Given the description of an element on the screen output the (x, y) to click on. 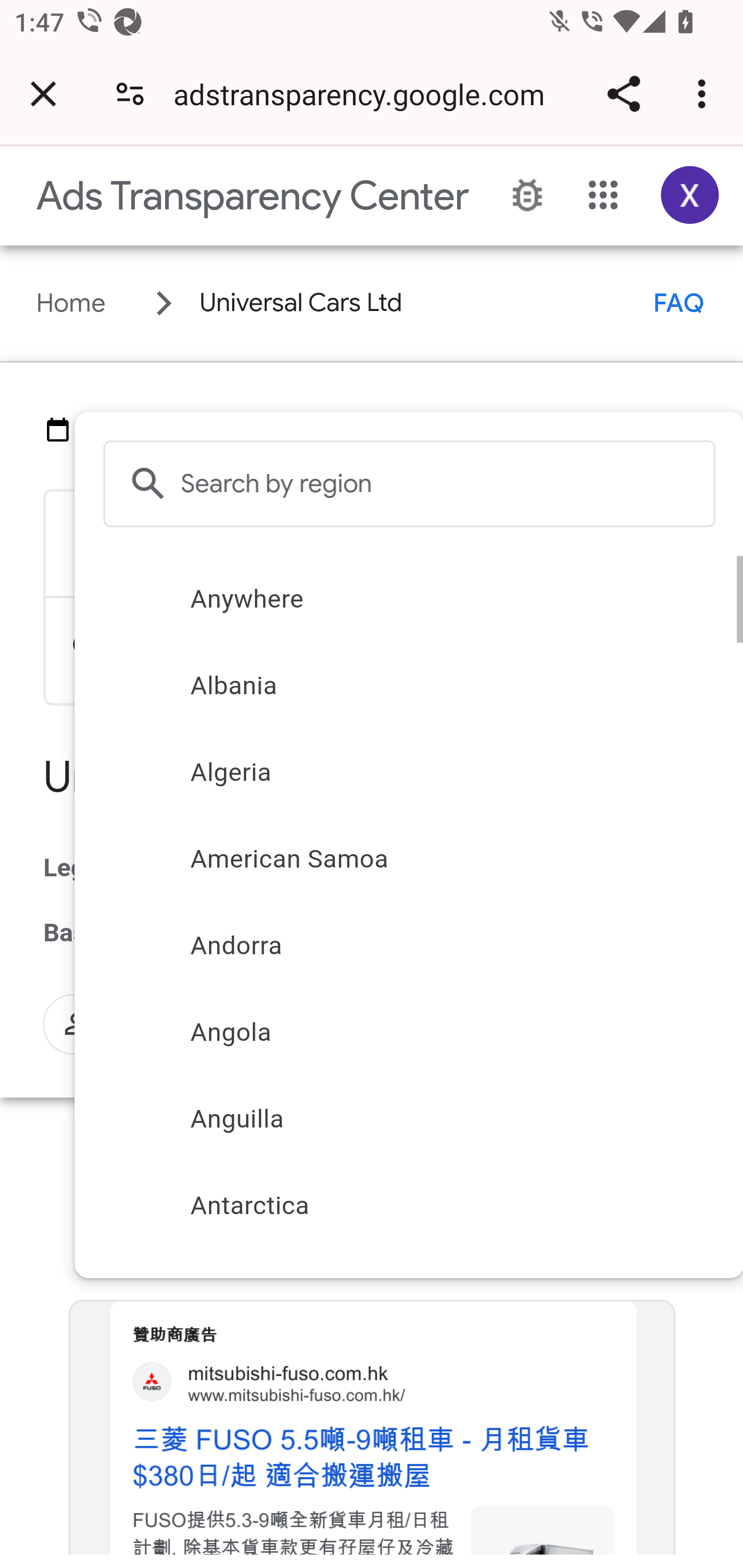
Close tab (43, 93)
Share (623, 93)
Customize and control Google Chrome (705, 93)
Connection is secure (129, 93)
adstransparency.google.com (366, 93)
Send Bug Report (526, 195)
Google apps (603, 195)
Google Account: Xiaoran (zxrappiumtest@gmail.com) (690, 195)
Home (71, 303)
FAQ (678, 303)
Anywhere (405, 597)
Albania (405, 685)
Algeria (405, 771)
American Samoa (405, 858)
Andorra (405, 945)
Angola (405, 1031)
Anguilla (405, 1117)
Antarctica (405, 1204)
Advertisement (1 of 40) (372, 1433)
